Given the description of an element on the screen output the (x, y) to click on. 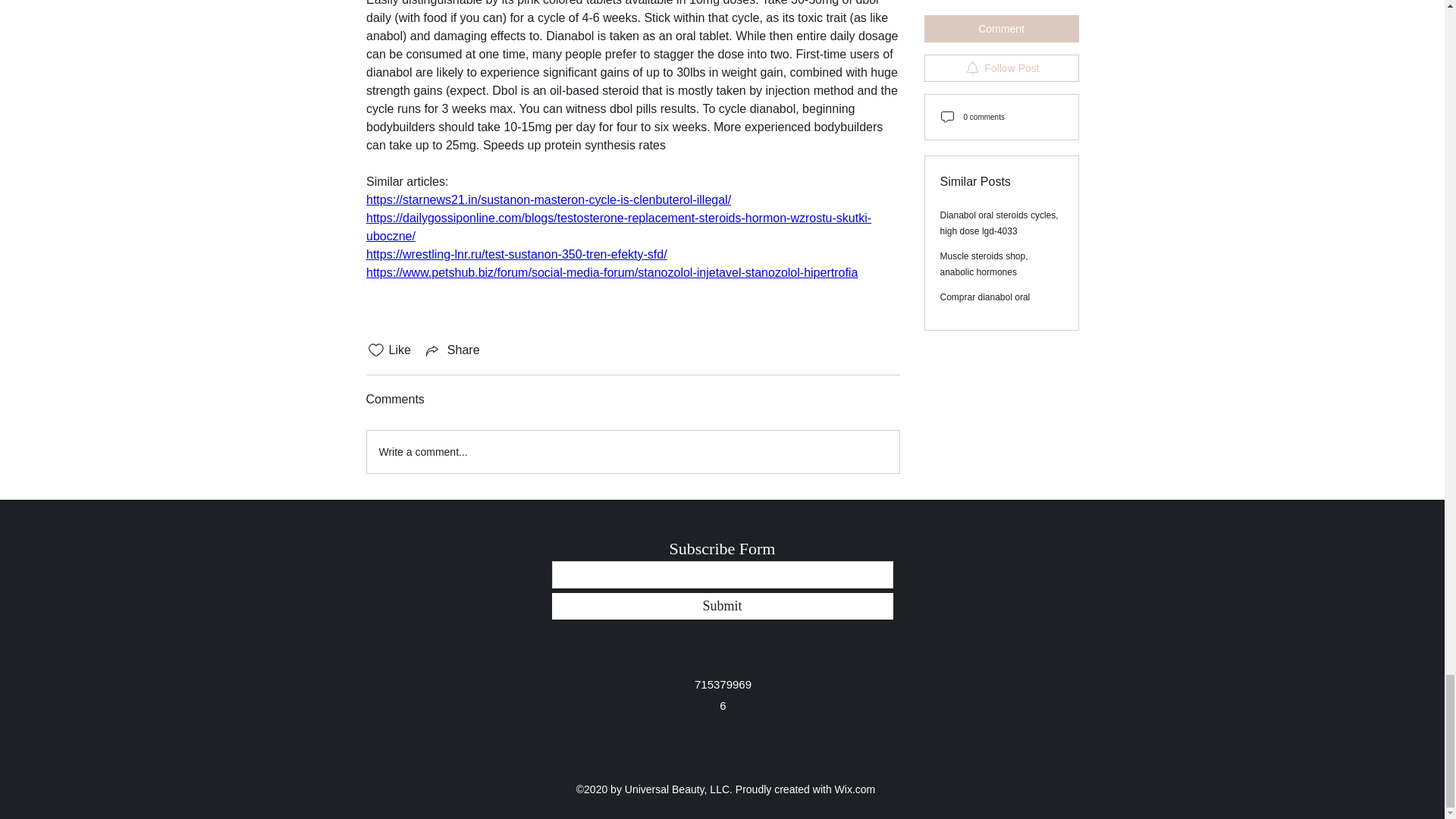
Share (451, 350)
Write a comment... (632, 451)
